Given the description of an element on the screen output the (x, y) to click on. 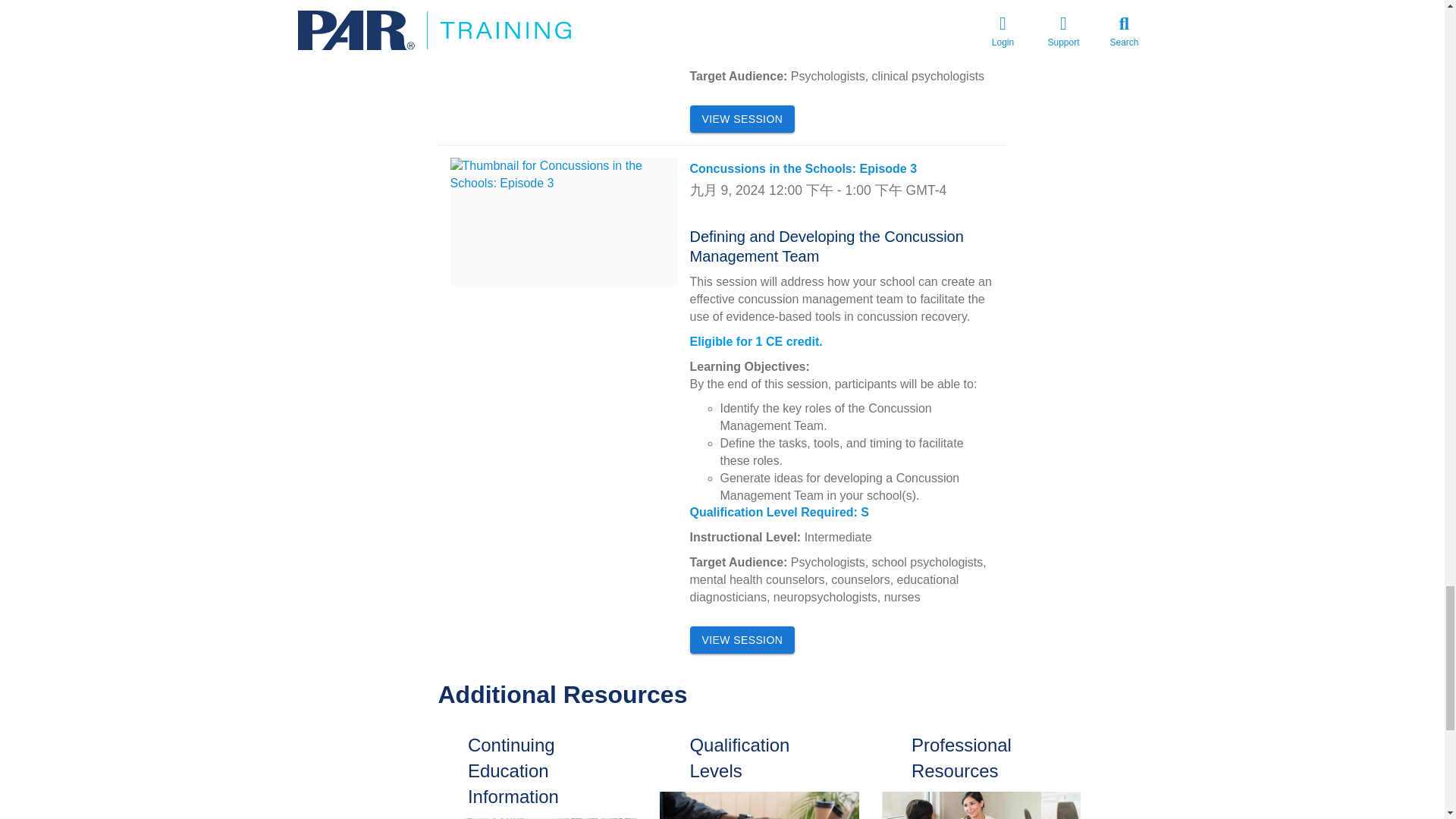
Qualification Level Required: S (779, 512)
custom image (980, 805)
Concussions in the Schools: Episode 3 (803, 168)
Qualification Level Required: C (779, 25)
custom image (759, 805)
VIEW SESSION (742, 119)
VIEW SESSION (742, 640)
